Given the description of an element on the screen output the (x, y) to click on. 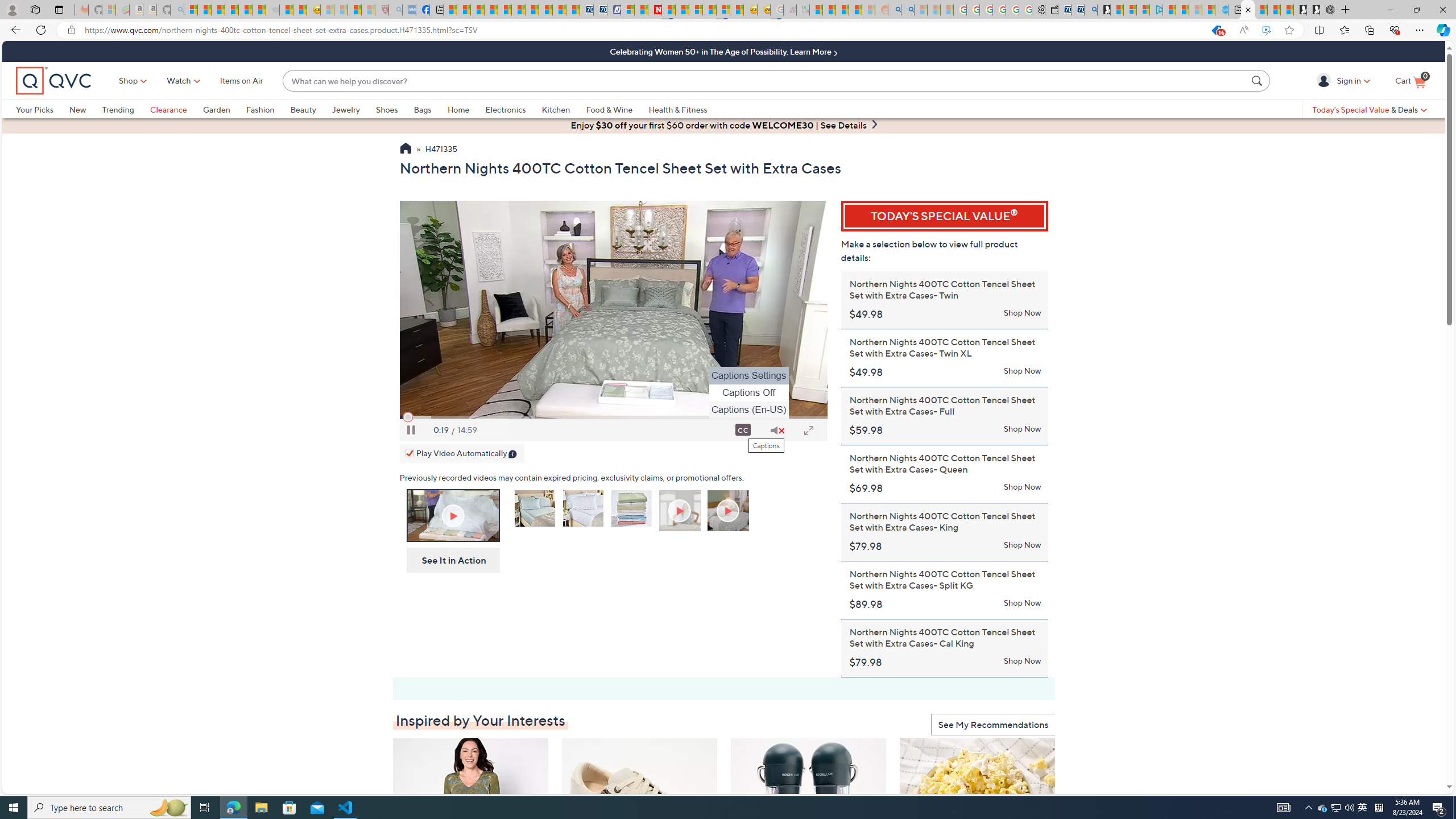
Kitchen (563, 109)
Progress Bar (612, 417)
Trending (117, 109)
Shoes (394, 109)
Captions (En-US) (749, 410)
Unmute (777, 430)
Bags (429, 109)
